Given the description of an element on the screen output the (x, y) to click on. 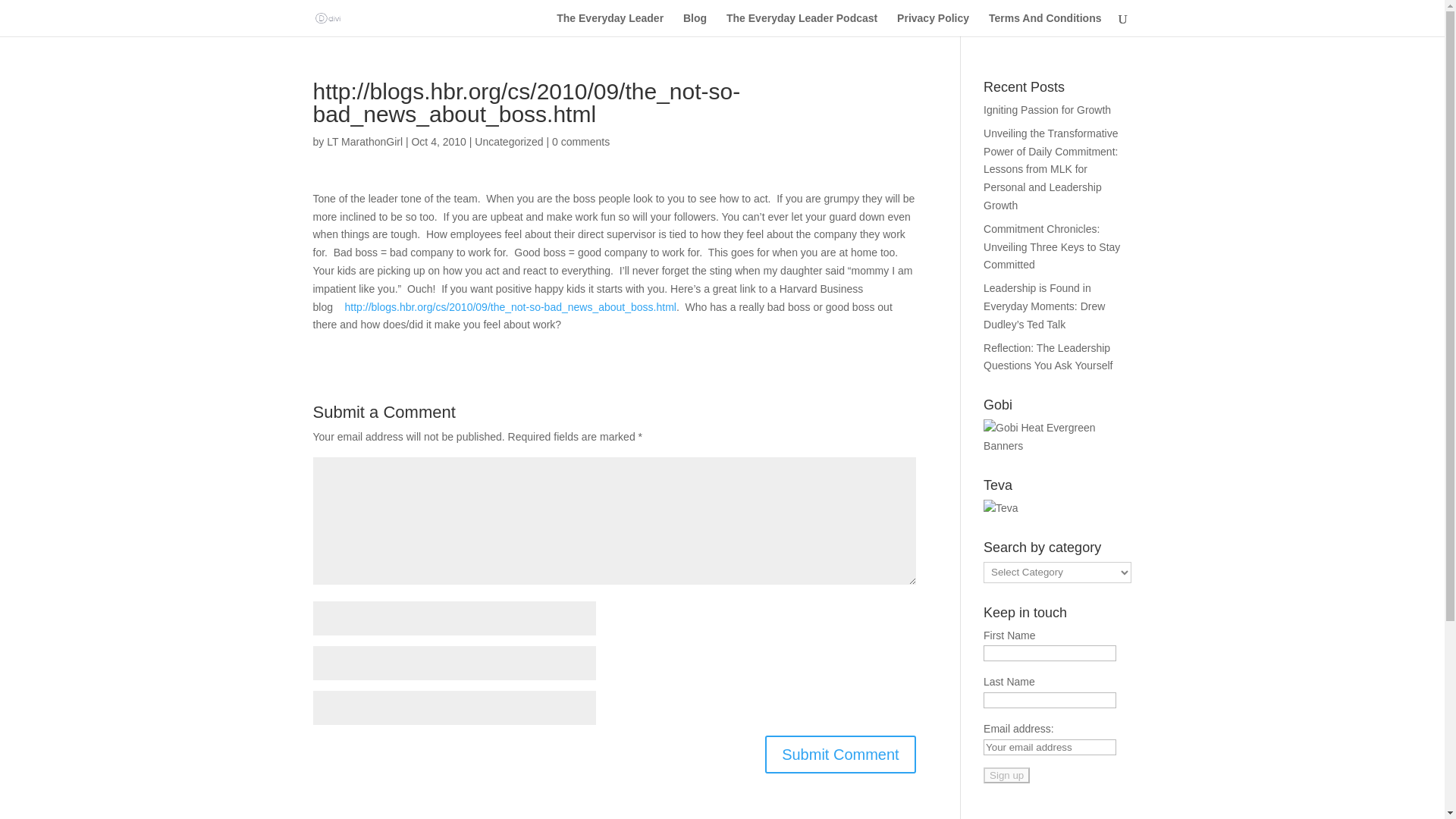
Posts by LT MarathonGirl (364, 141)
0 comments (580, 141)
The Everyday Leader Podcast (801, 24)
The Everyday Leader (609, 24)
Reflection: The Leadership Questions You Ask Yourself (1048, 357)
Sign up (1006, 774)
Privacy Policy (932, 24)
Submit Comment (840, 754)
Terms And Conditions (1045, 24)
Sign up (1006, 774)
Igniting Passion for Growth (1047, 110)
Blog (694, 24)
Submit Comment (840, 754)
LT MarathonGirl (364, 141)
